Given the description of an element on the screen output the (x, y) to click on. 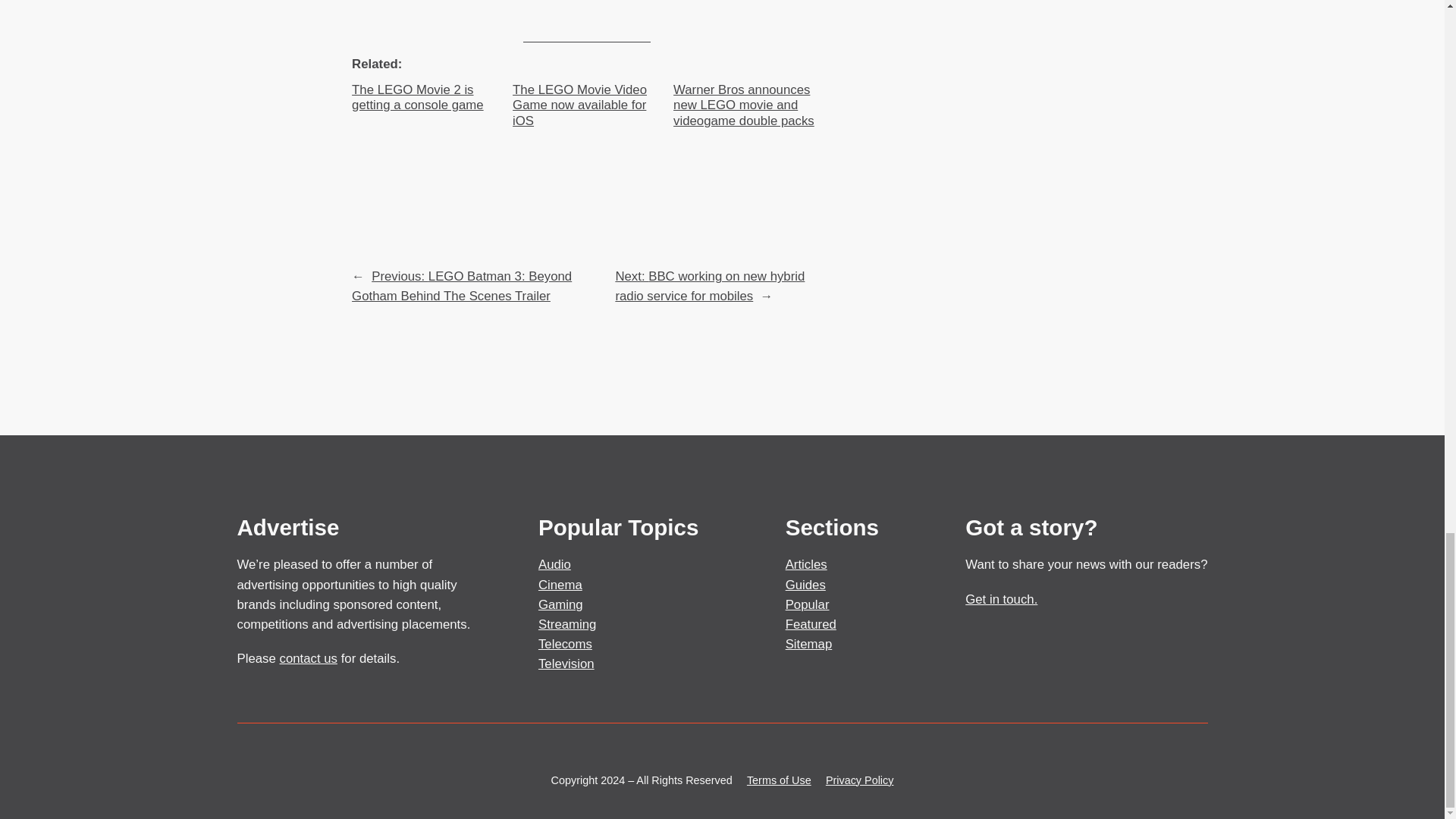
Telecoms (565, 644)
contact us (308, 658)
The LEGO Movie Video Game now available for iOS (586, 104)
Audio (554, 564)
The LEGO Movie 2 is getting a console game (426, 97)
Gaming (560, 604)
Television (566, 663)
Cinema (560, 584)
Next: BBC working on new hybrid radio service for mobiles (709, 286)
Streaming (566, 624)
